Given the description of an element on the screen output the (x, y) to click on. 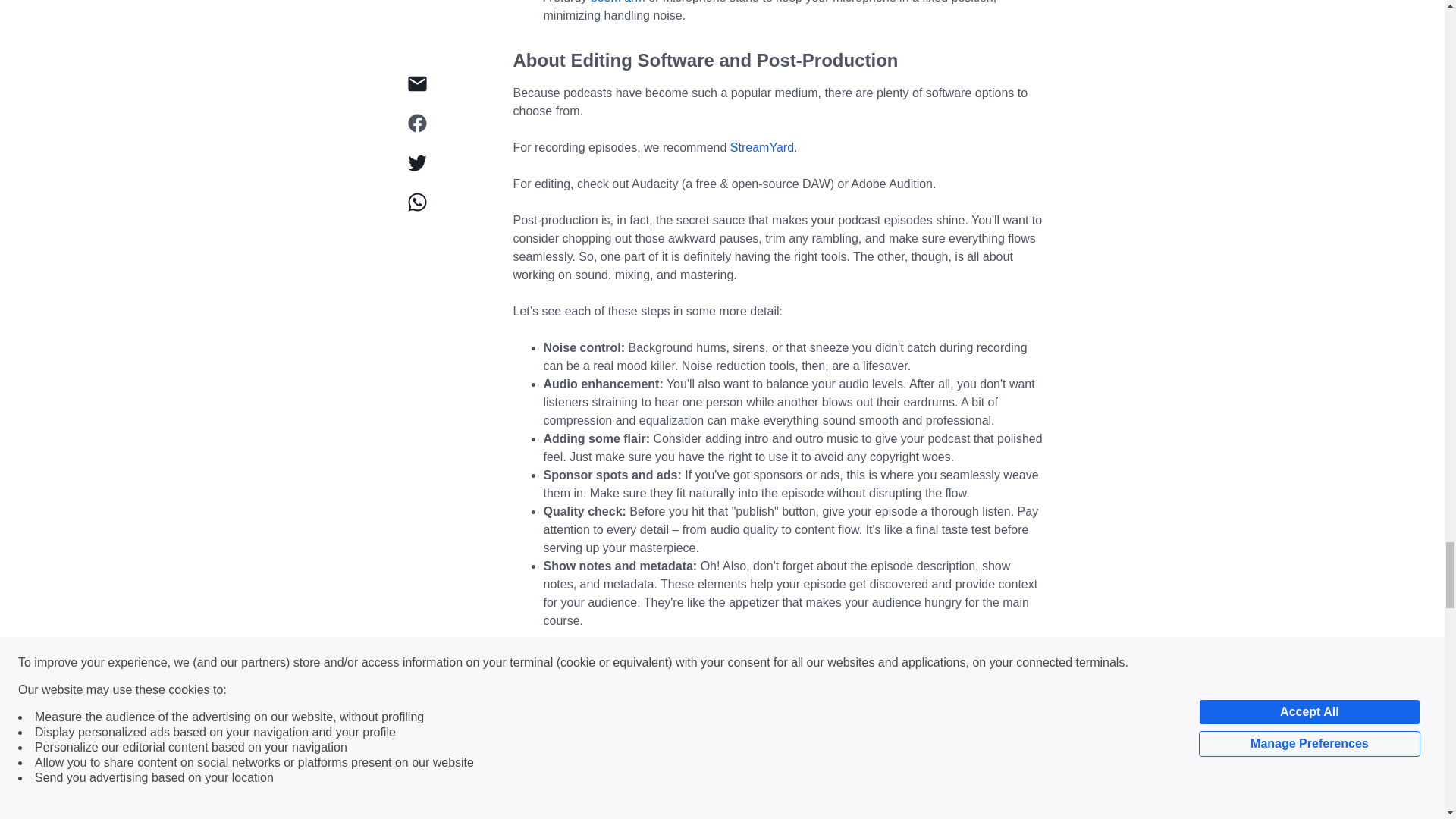
boom arm (618, 2)
StreamYard. (763, 146)
